Given the description of an element on the screen output the (x, y) to click on. 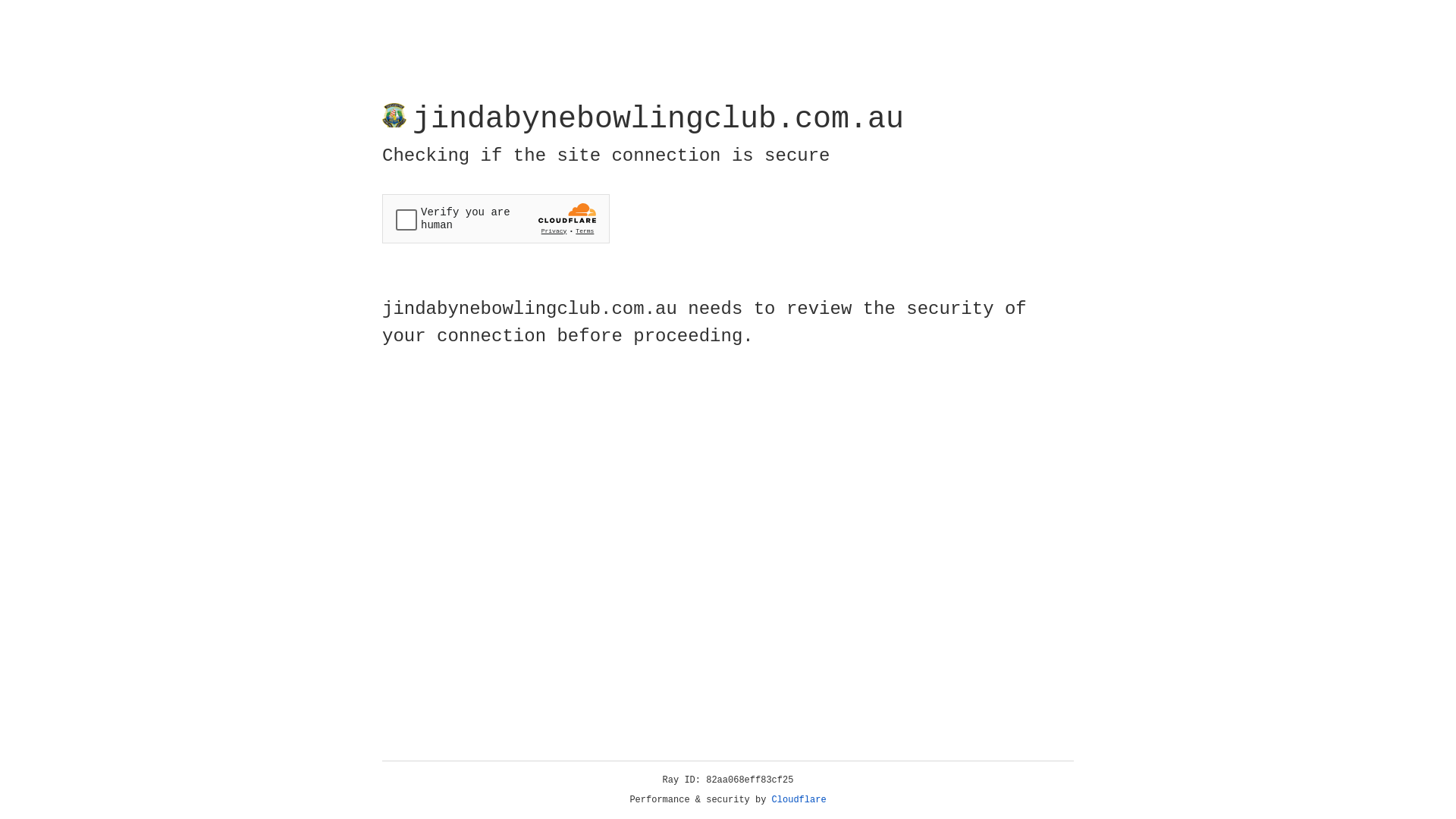
Cloudflare Element type: text (798, 799)
Widget containing a Cloudflare security challenge Element type: hover (495, 218)
